Given the description of an element on the screen output the (x, y) to click on. 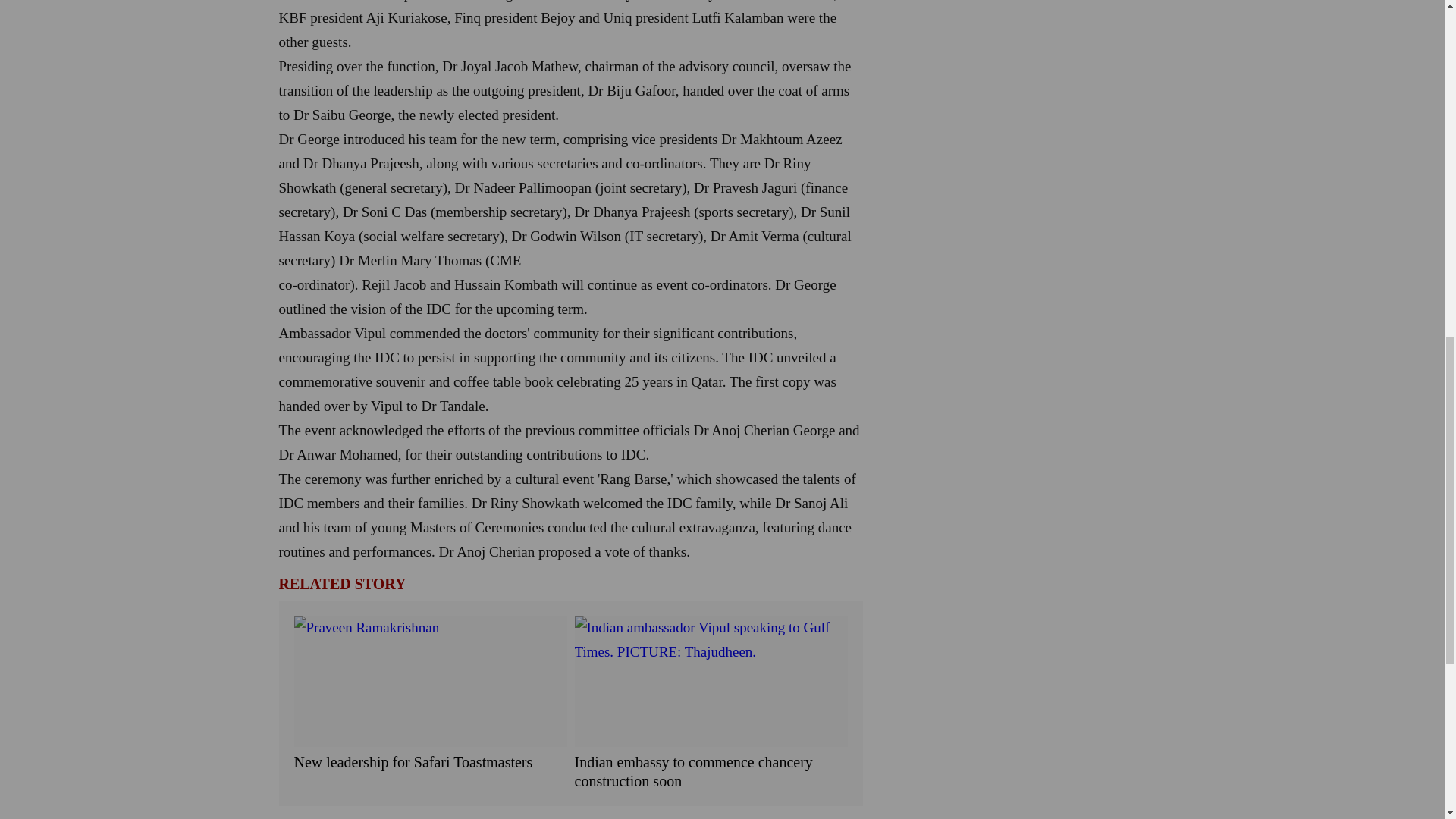
New leadership for Safari Toastmasters (430, 762)
Indian embassy to commence chancery construction soon (711, 771)
